Given the description of an element on the screen output the (x, y) to click on. 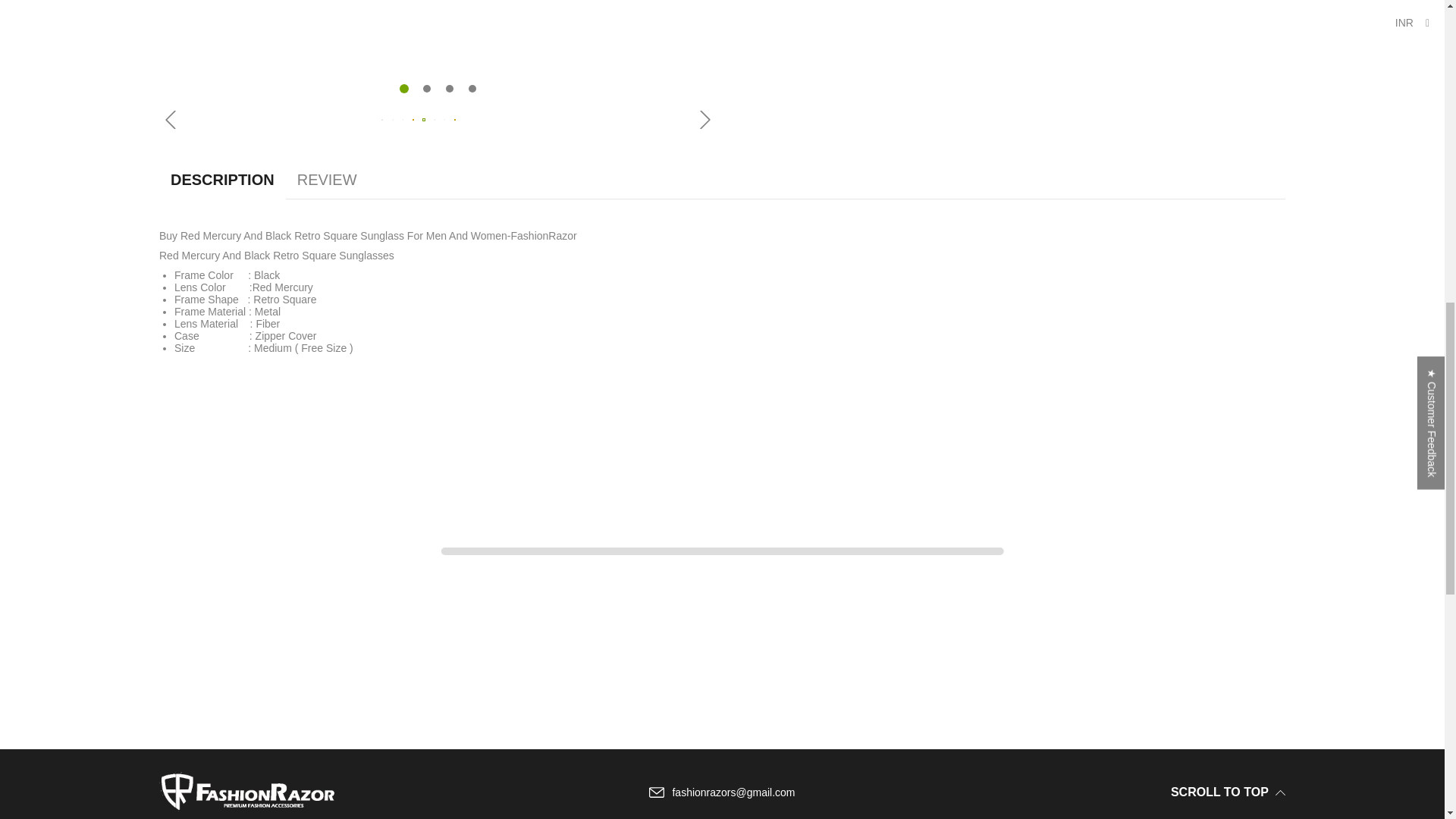
SCROLL TO TOP (1227, 791)
SCROLL TO TOP (1195, 792)
